Given the description of an element on the screen output the (x, y) to click on. 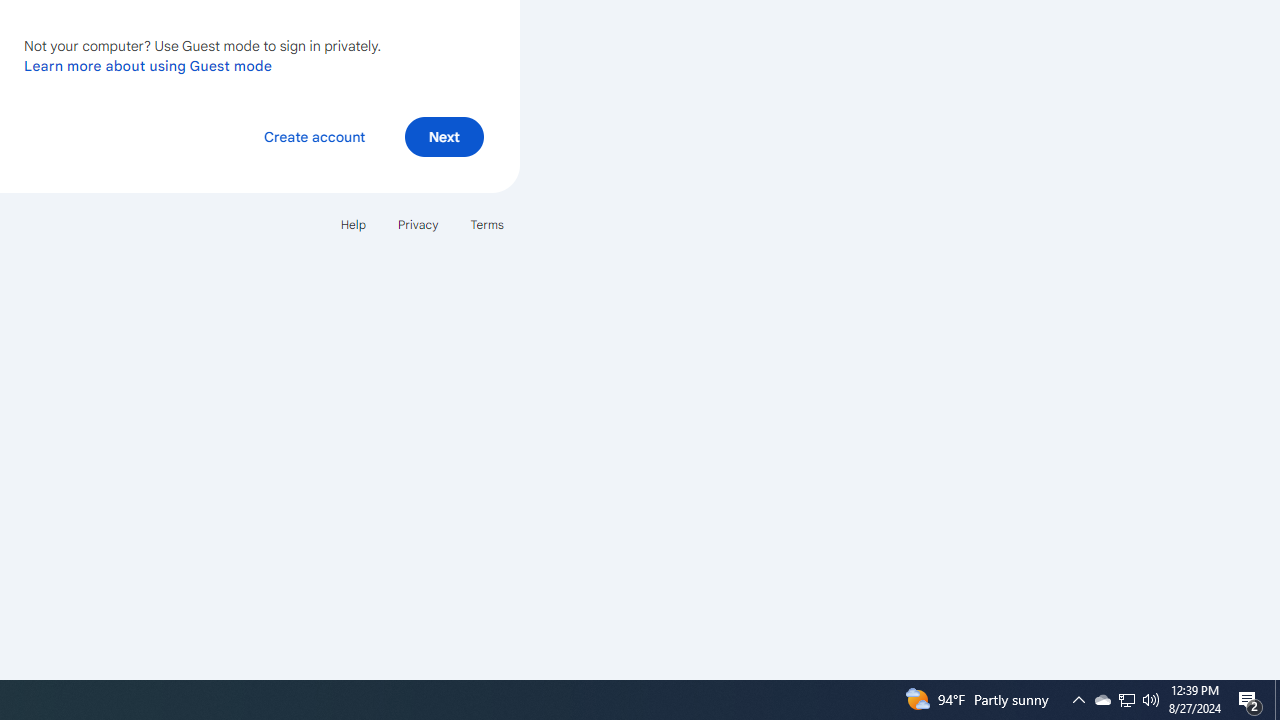
Create account (314, 135)
Learn more about using Guest mode (148, 65)
